Given the description of an element on the screen output the (x, y) to click on. 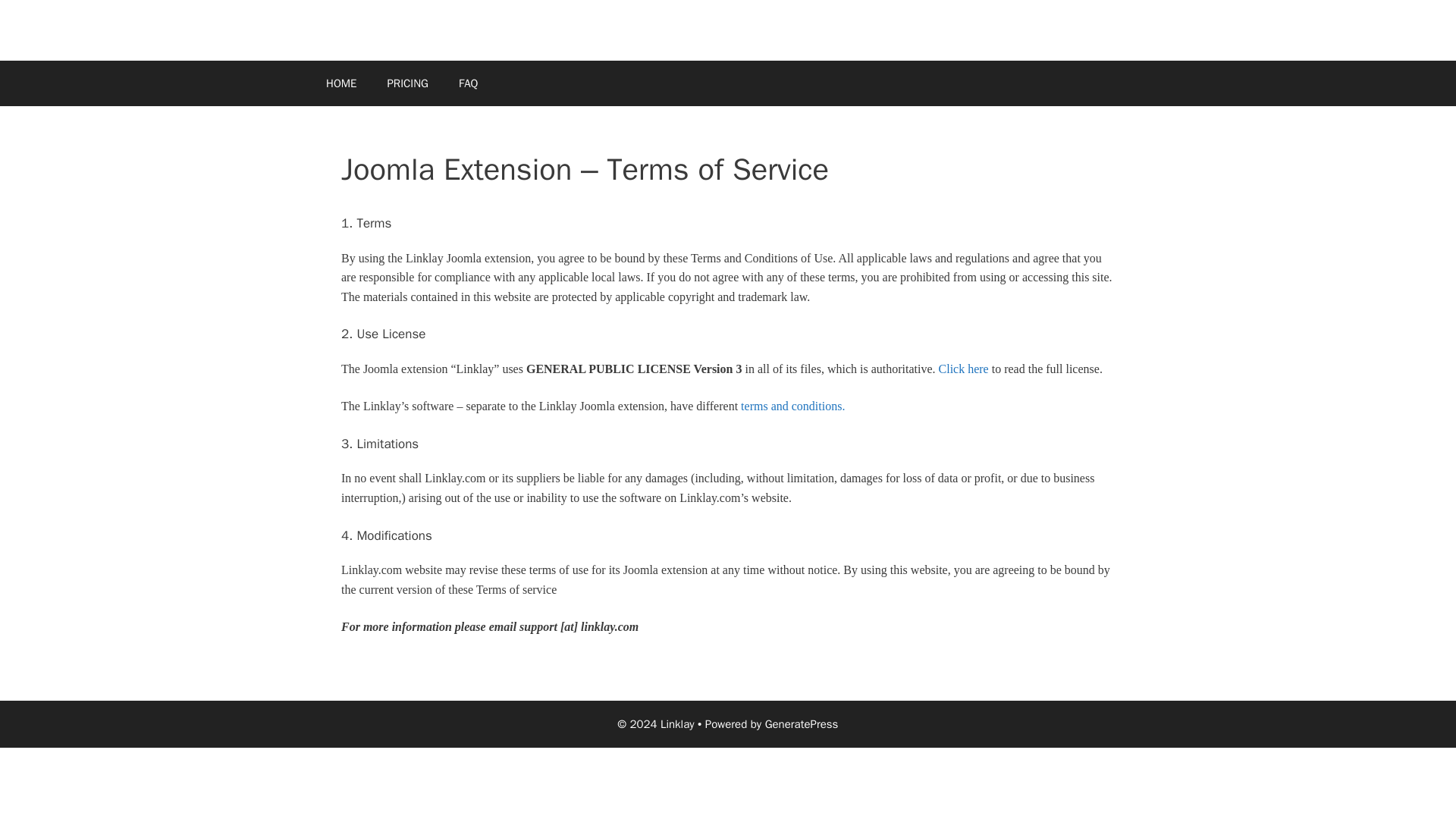
Click here (963, 368)
FAQ (468, 83)
GeneratePress (801, 724)
HOME (341, 83)
terms and conditions. (792, 405)
PRICING (407, 83)
